Given the description of an element on the screen output the (x, y) to click on. 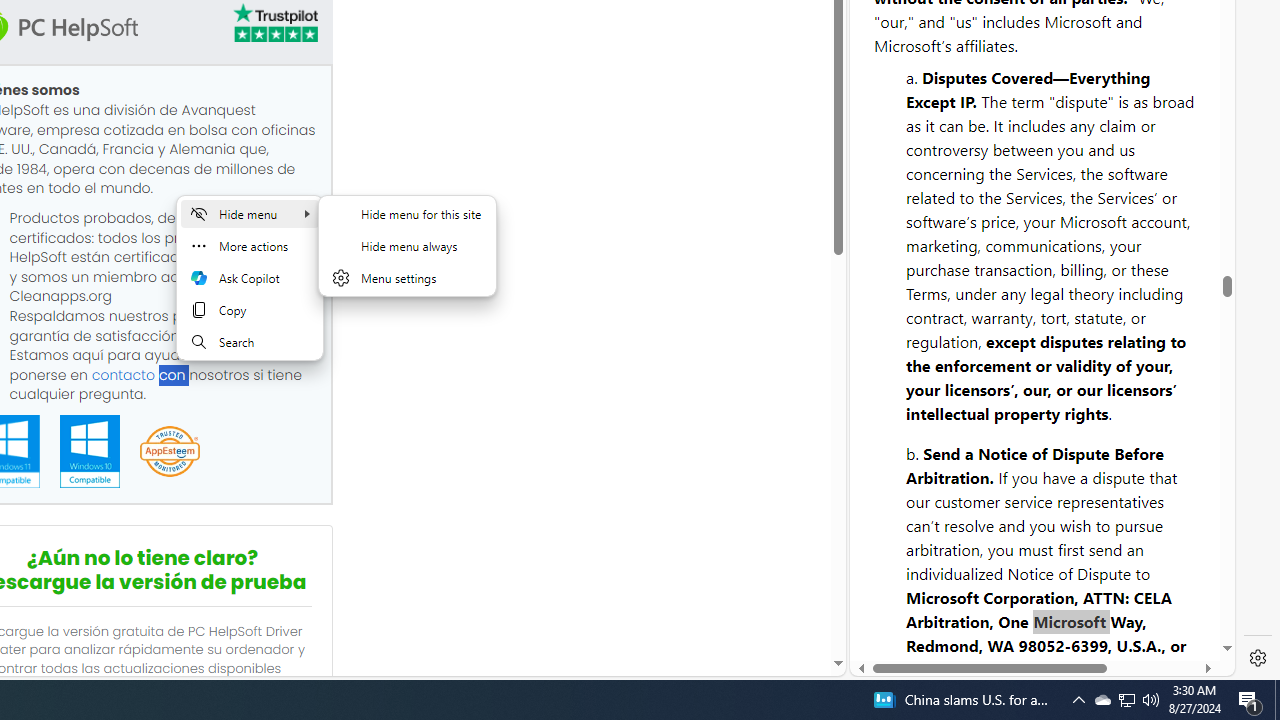
Hide menu always (407, 245)
Copy (249, 309)
Hide menu (249, 213)
Privacy (922, 602)
Mini menu on text selection (249, 277)
Hide menu (407, 257)
App Esteem (169, 452)
contacto (123, 374)
Legal (991, 602)
TrustPilot (274, 25)
Privacy (922, 611)
